Given the description of an element on the screen output the (x, y) to click on. 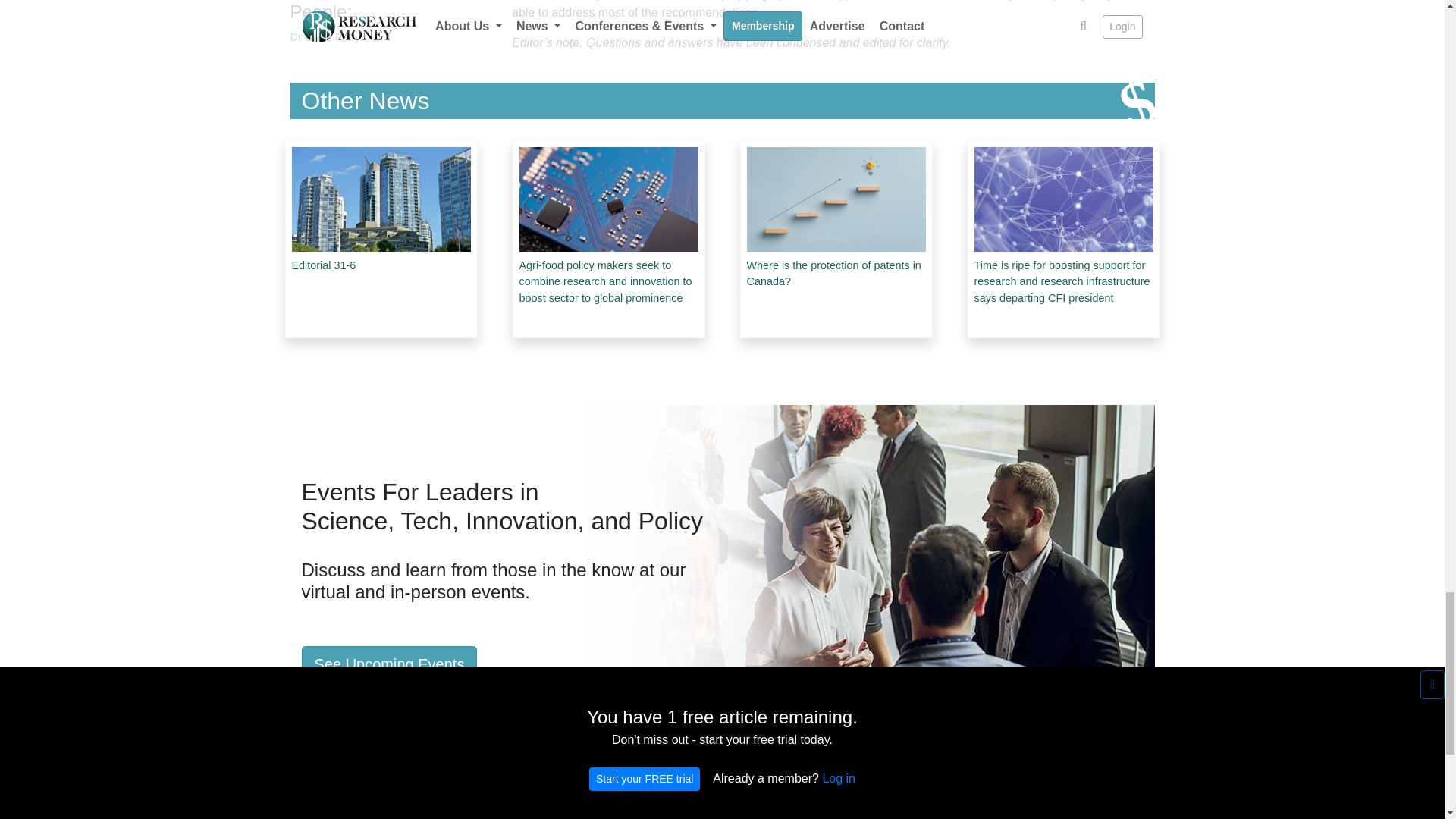
Where is the protection of patents in Canada? (834, 242)
Editorial 31-6 (380, 234)
See Upcoming Events (389, 664)
